Given the description of an element on the screen output the (x, y) to click on. 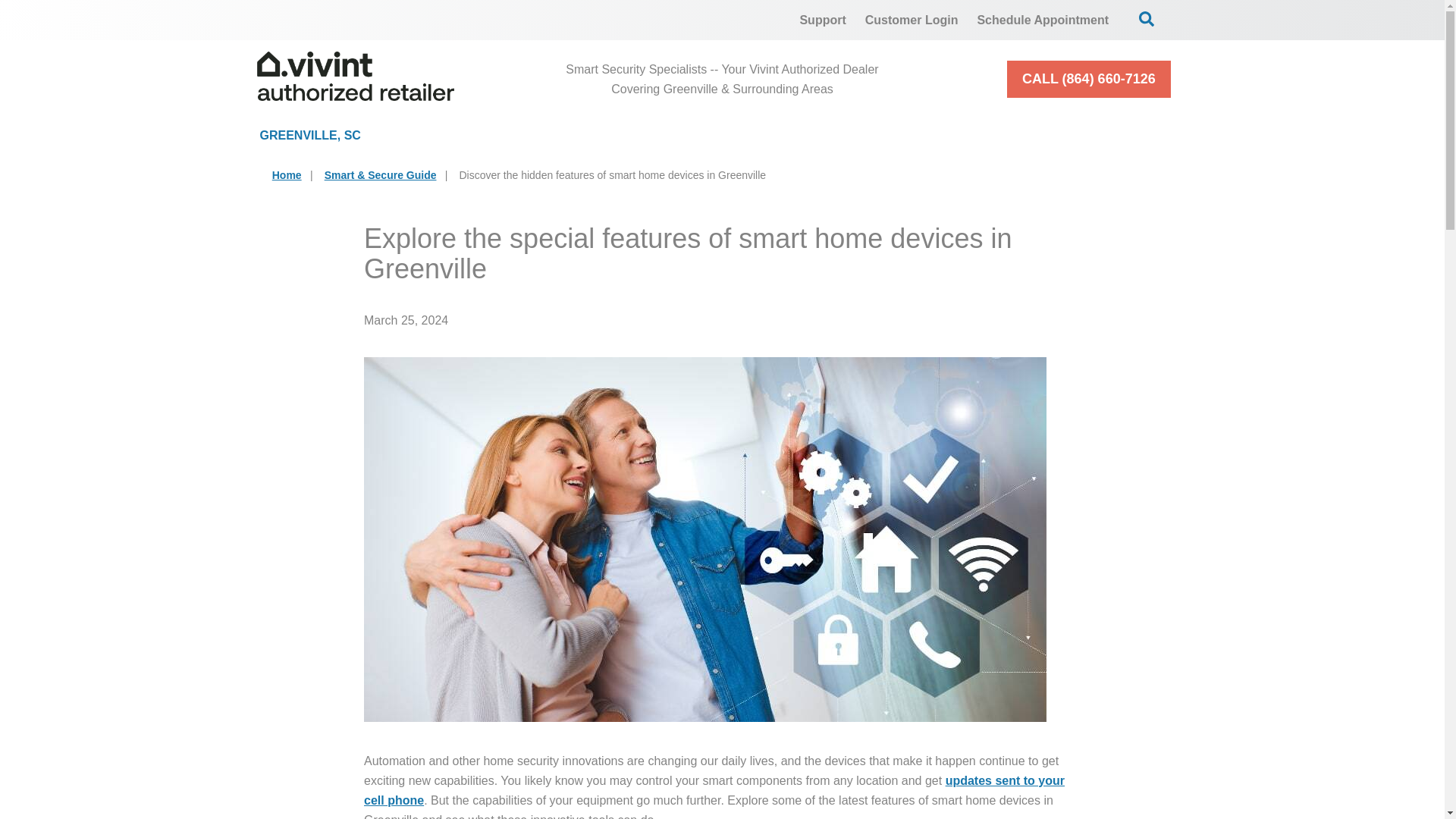
Schedule Appointment (1042, 20)
Cameras (668, 135)
Open Search (1146, 18)
Notifications sent to your smartphone (714, 789)
Smart Home Automation (867, 135)
Support (822, 20)
Customer Login (911, 20)
Home (286, 174)
updates sent to your cell phone (714, 789)
Home Security (497, 135)
